Given the description of an element on the screen output the (x, y) to click on. 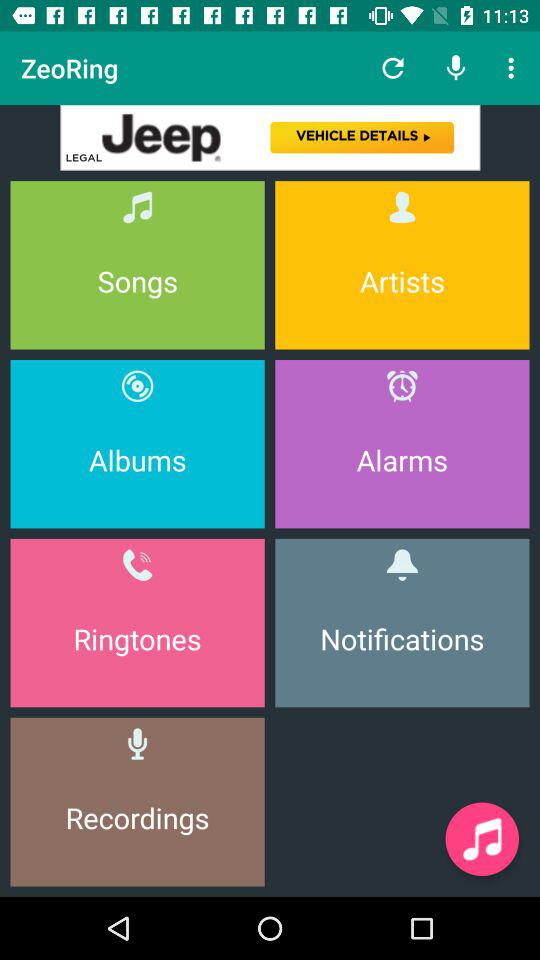
play music (482, 839)
